Given the description of an element on the screen output the (x, y) to click on. 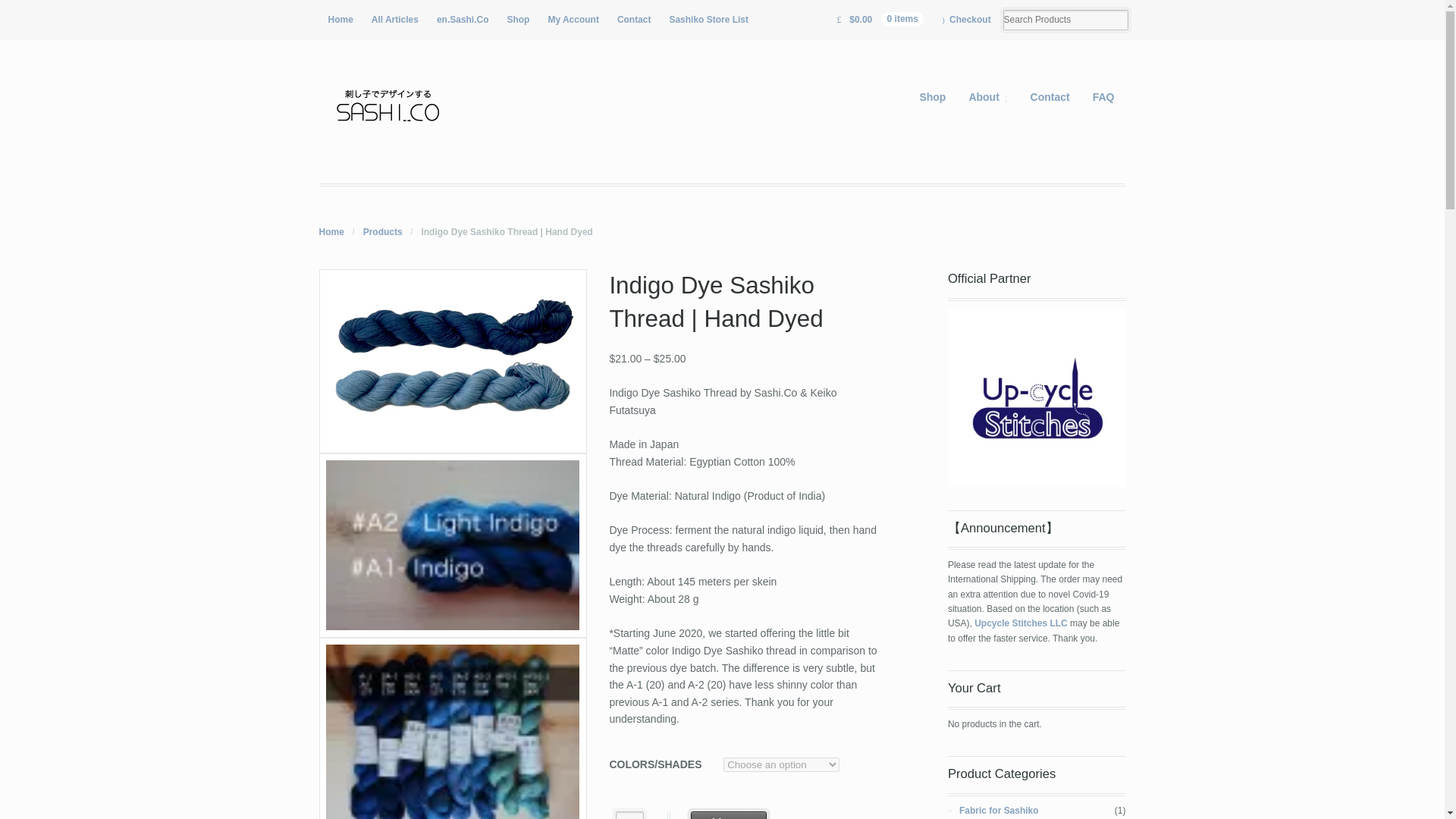
1 (629, 815)
FAQ (1103, 97)
Checkout (965, 20)
Contact (1050, 97)
All Articles (395, 20)
Contact (634, 20)
en.Sashi.Co (462, 20)
Products (382, 231)
Shop (517, 20)
About (986, 97)
Search (62, 10)
Shop (931, 97)
View your shopping cart (880, 20)
Home (330, 231)
My Account (572, 20)
